Given the description of an element on the screen output the (x, y) to click on. 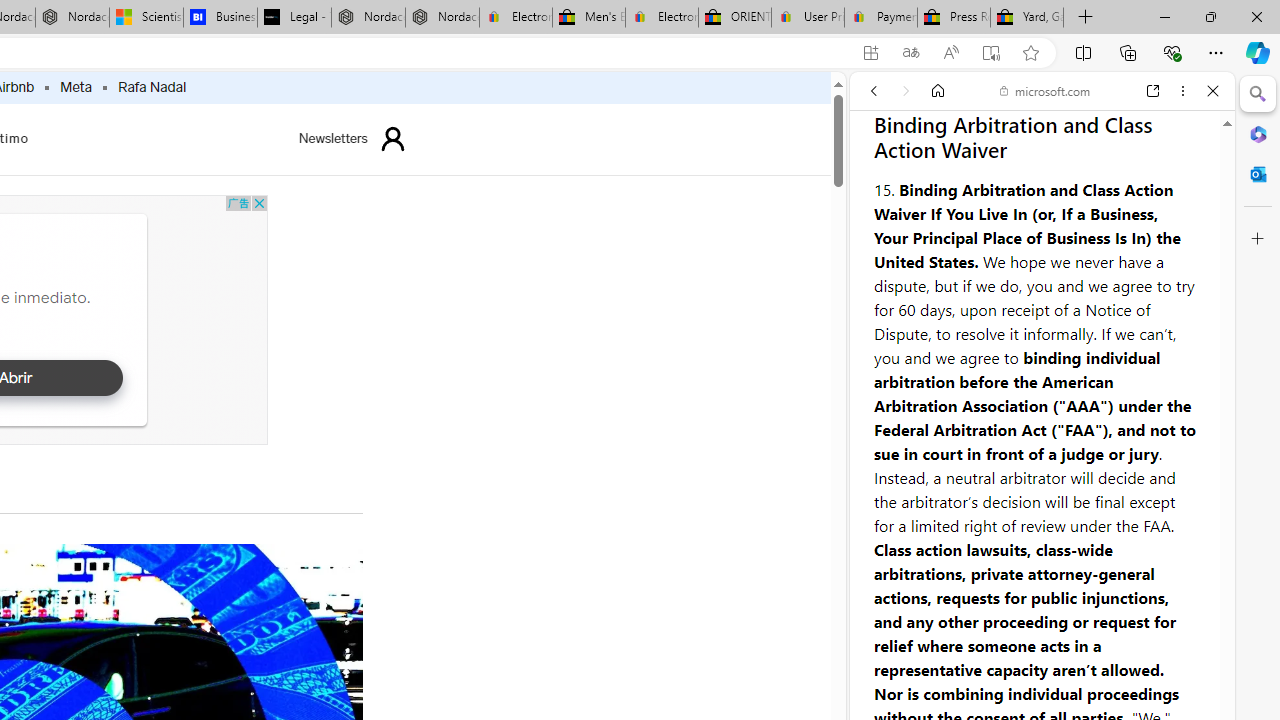
microsoft.com (1045, 90)
Meta (76, 88)
Minimize Search pane (1258, 94)
Rafa Nadal (151, 88)
